Given the description of an element on the screen output the (x, y) to click on. 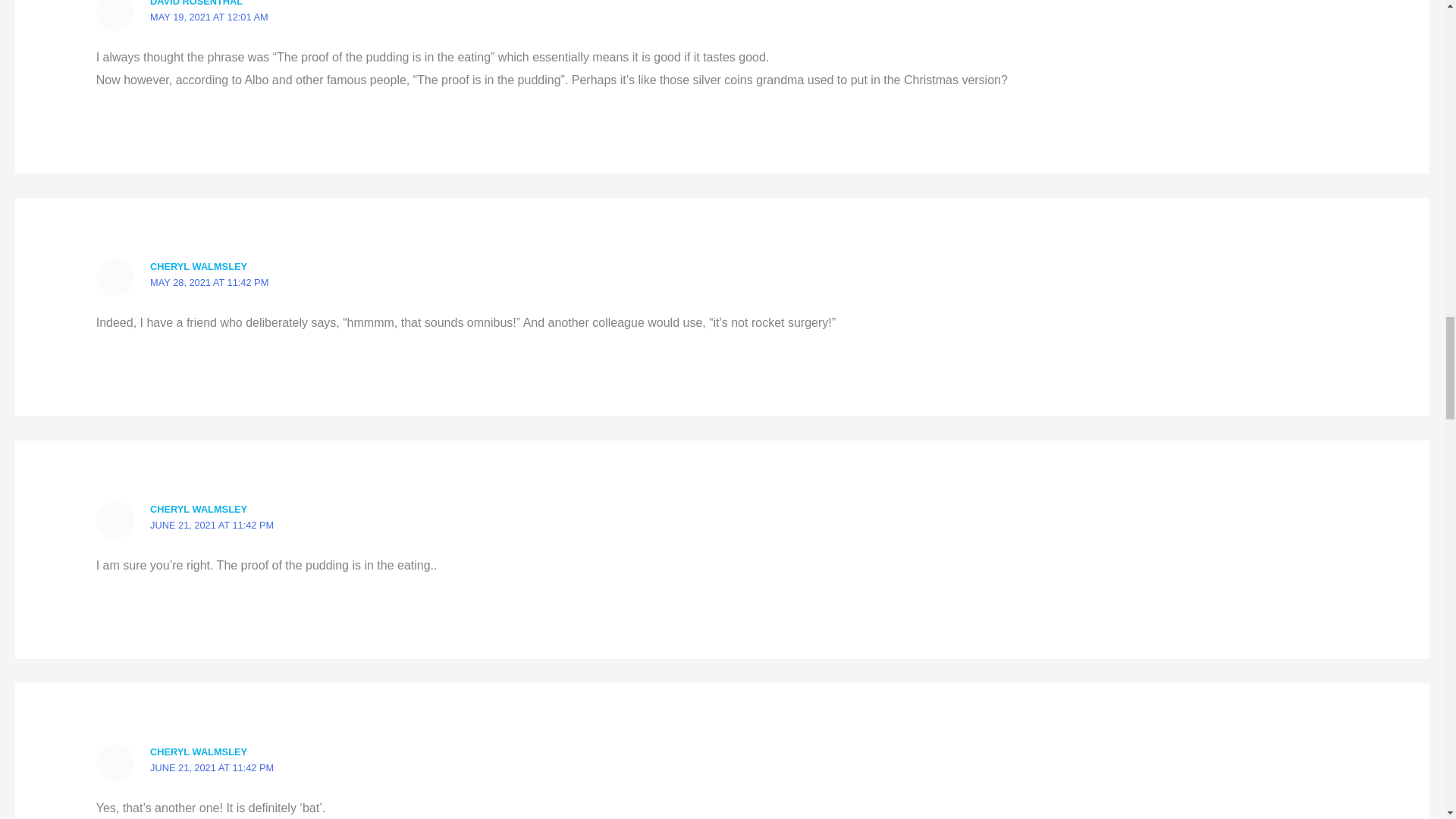
MAY 28, 2021 AT 11:42 PM (208, 282)
JUNE 21, 2021 AT 11:42 PM (211, 767)
JUNE 21, 2021 AT 11:42 PM (211, 524)
MAY 19, 2021 AT 12:01 AM (208, 16)
